Given the description of an element on the screen output the (x, y) to click on. 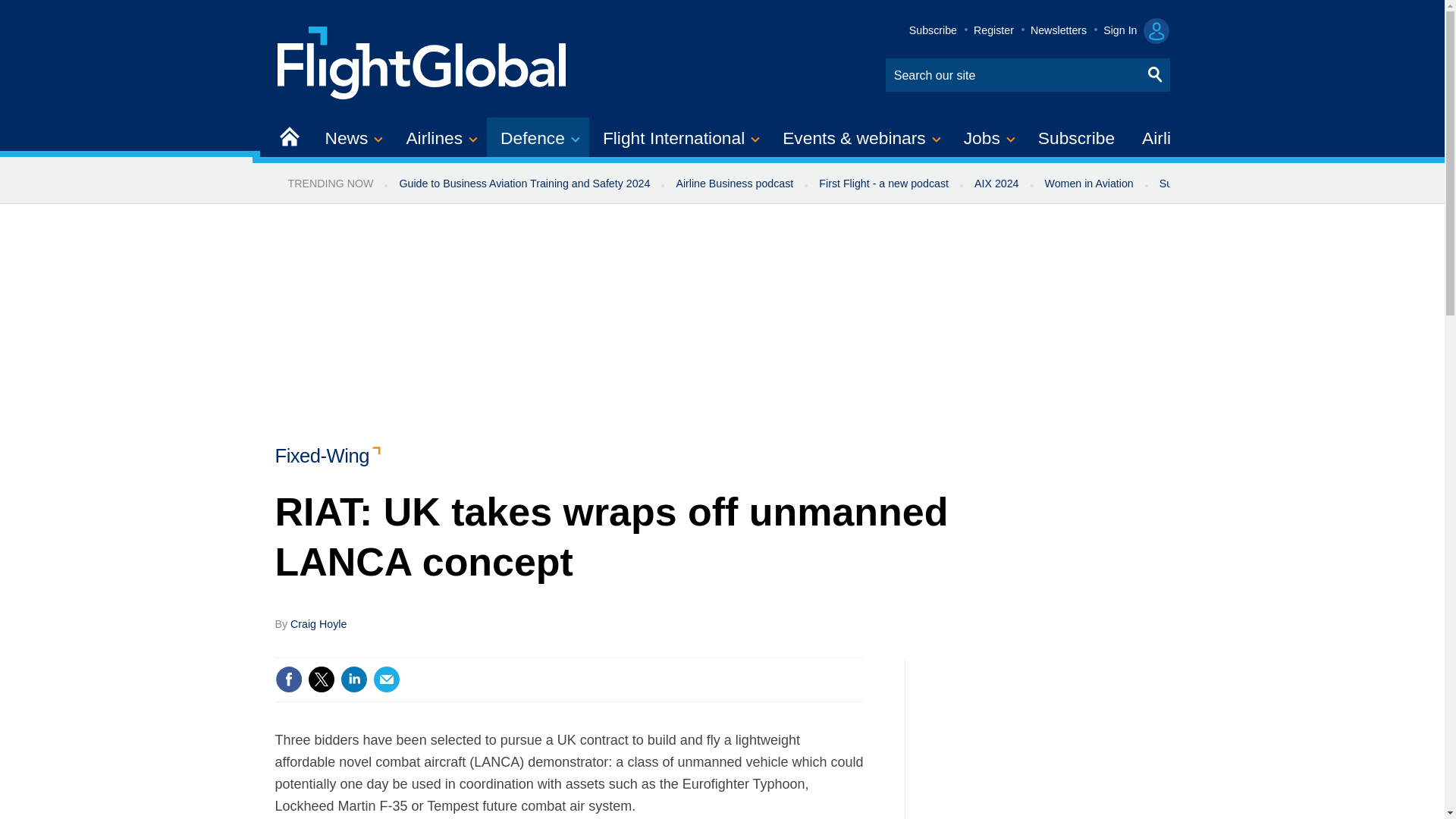
Share this on Linked in (352, 678)
Site name (422, 60)
Guide to Business Aviation Training and Safety 2024 (523, 183)
Women in Aviation (1089, 183)
Share this on Twitter (320, 678)
Email this article (386, 678)
Share this on Facebook (288, 678)
Sustainable Aviation newsletter (1234, 183)
Airline Business podcast (734, 183)
AIX 2024 (996, 183)
First Flight - a new podcast (883, 183)
